Given the description of an element on the screen output the (x, y) to click on. 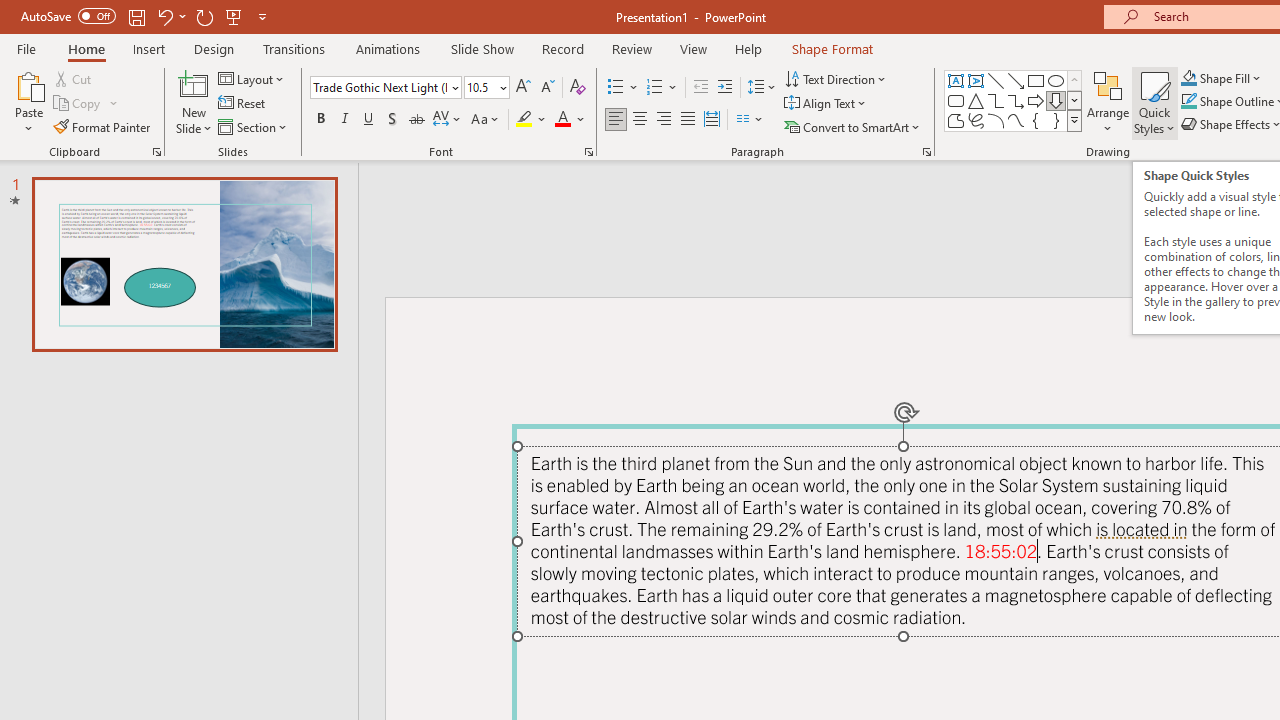
Arc (995, 120)
Isosceles Triangle (975, 100)
Align Right (663, 119)
Align Text (826, 103)
Right Brace (1055, 120)
Justify (687, 119)
Arrow: Down (1055, 100)
Paragraph... (926, 151)
Bold (320, 119)
Freeform: Shape (955, 120)
